Given the description of an element on the screen output the (x, y) to click on. 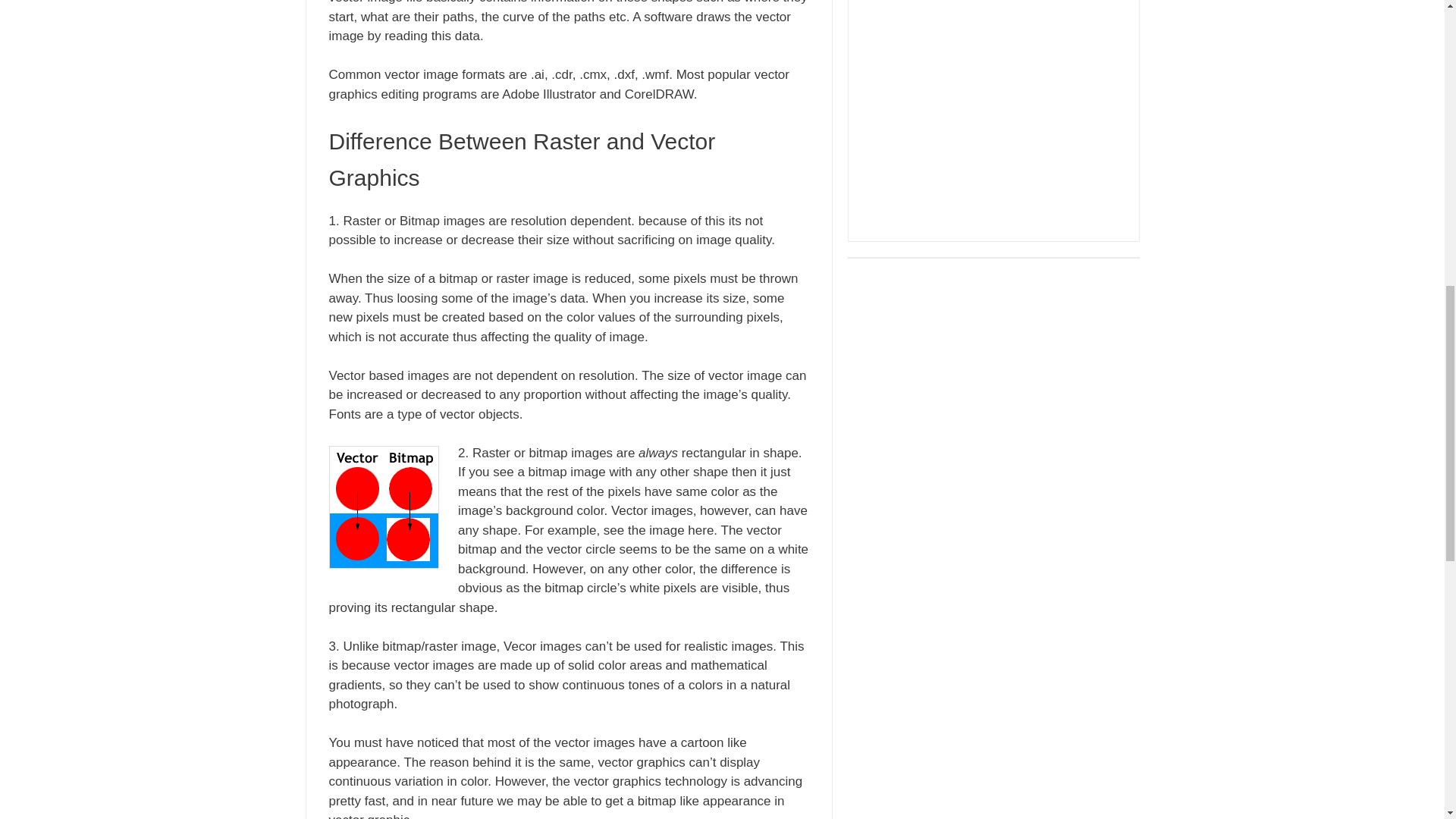
difference in vector and raster images (384, 506)
Advertisement (992, 120)
